Given the description of an element on the screen output the (x, y) to click on. 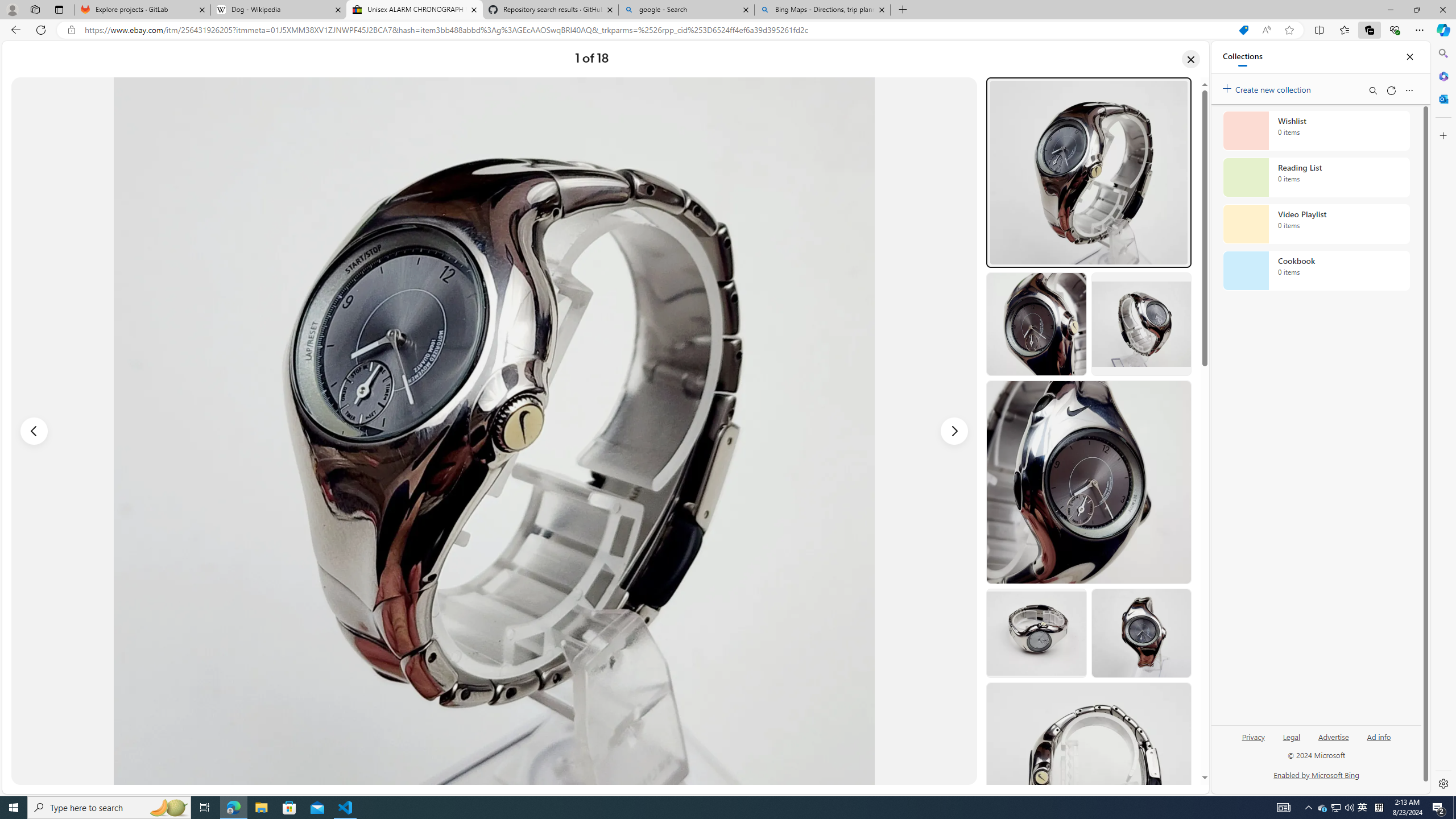
Close image gallery dialog (1190, 58)
Cookbook collection, 0 items (1316, 270)
You have the best price! (1243, 29)
Wishlist collection, 0 items (1316, 130)
Video Playlist collection, 0 items (1316, 223)
